Given the description of an element on the screen output the (x, y) to click on. 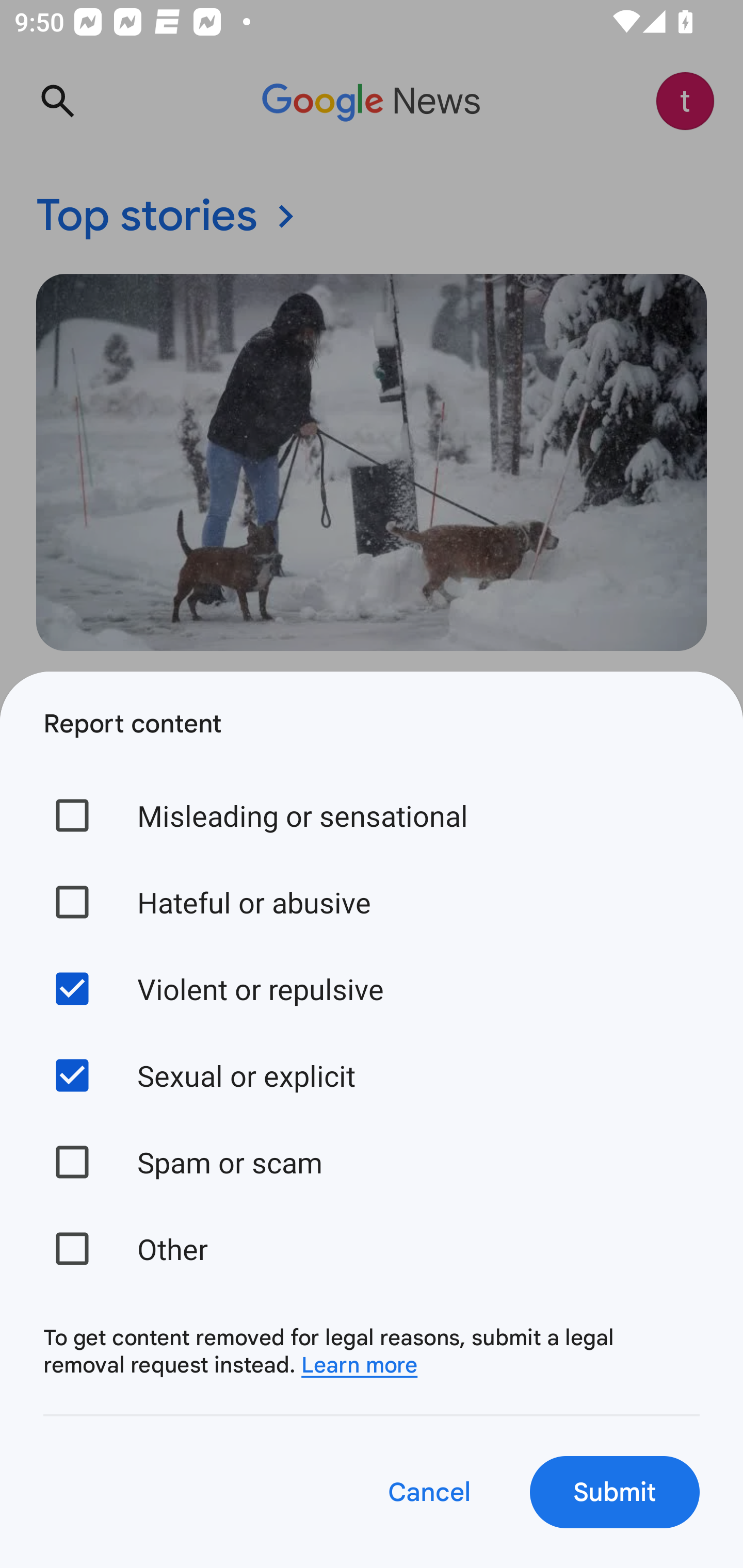
Misleading or sensational (371, 815)
Hateful or abusive (371, 902)
Violent or repulsive (371, 988)
Sexual or explicit (371, 1074)
Spam or scam (371, 1161)
Other (371, 1248)
Cancel (428, 1491)
Submit (614, 1491)
